Given the description of an element on the screen output the (x, y) to click on. 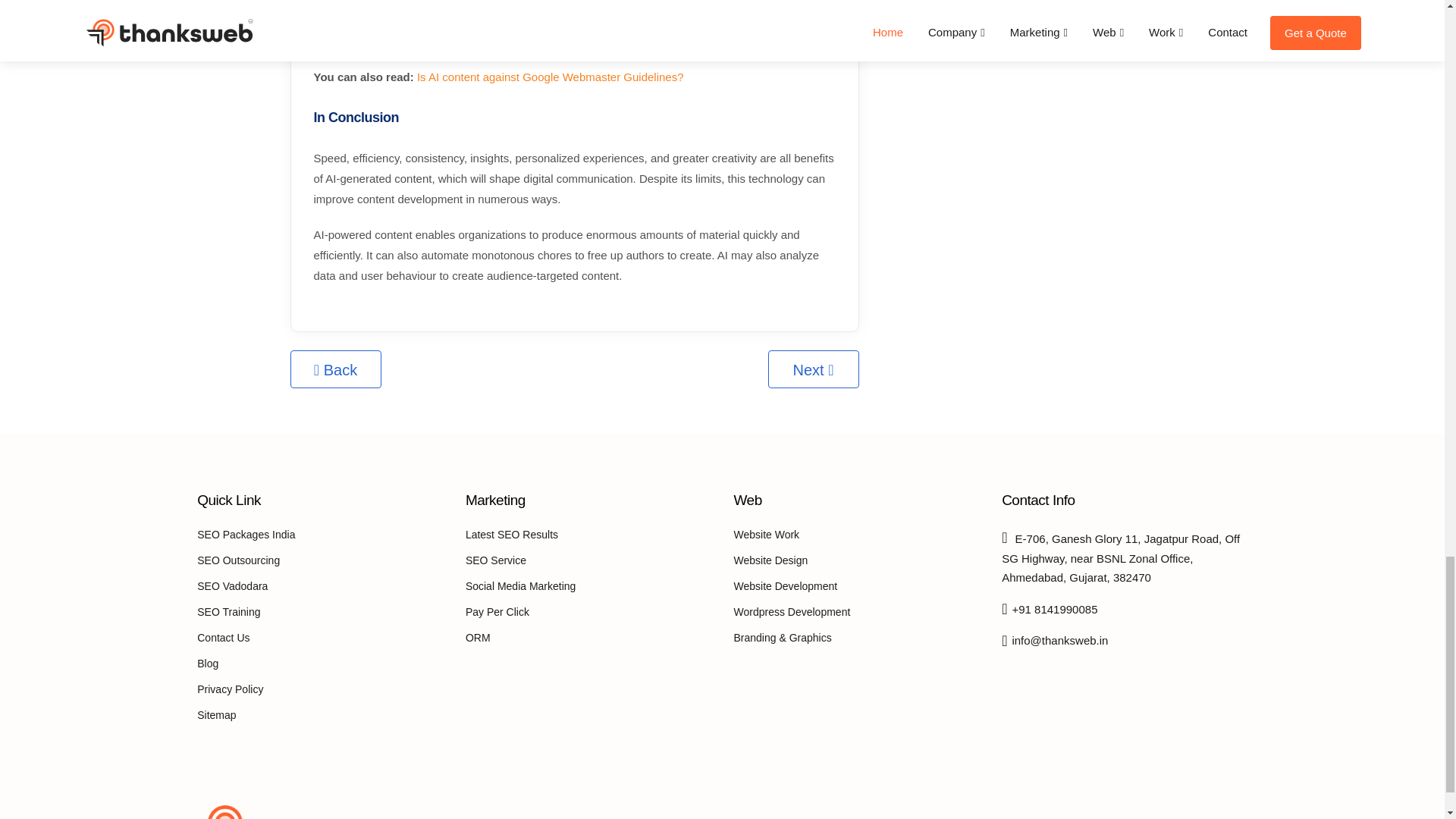
Back (334, 369)
Next (813, 369)
Is AI content against Google Webmaster Guidelines? (550, 76)
